Given the description of an element on the screen output the (x, y) to click on. 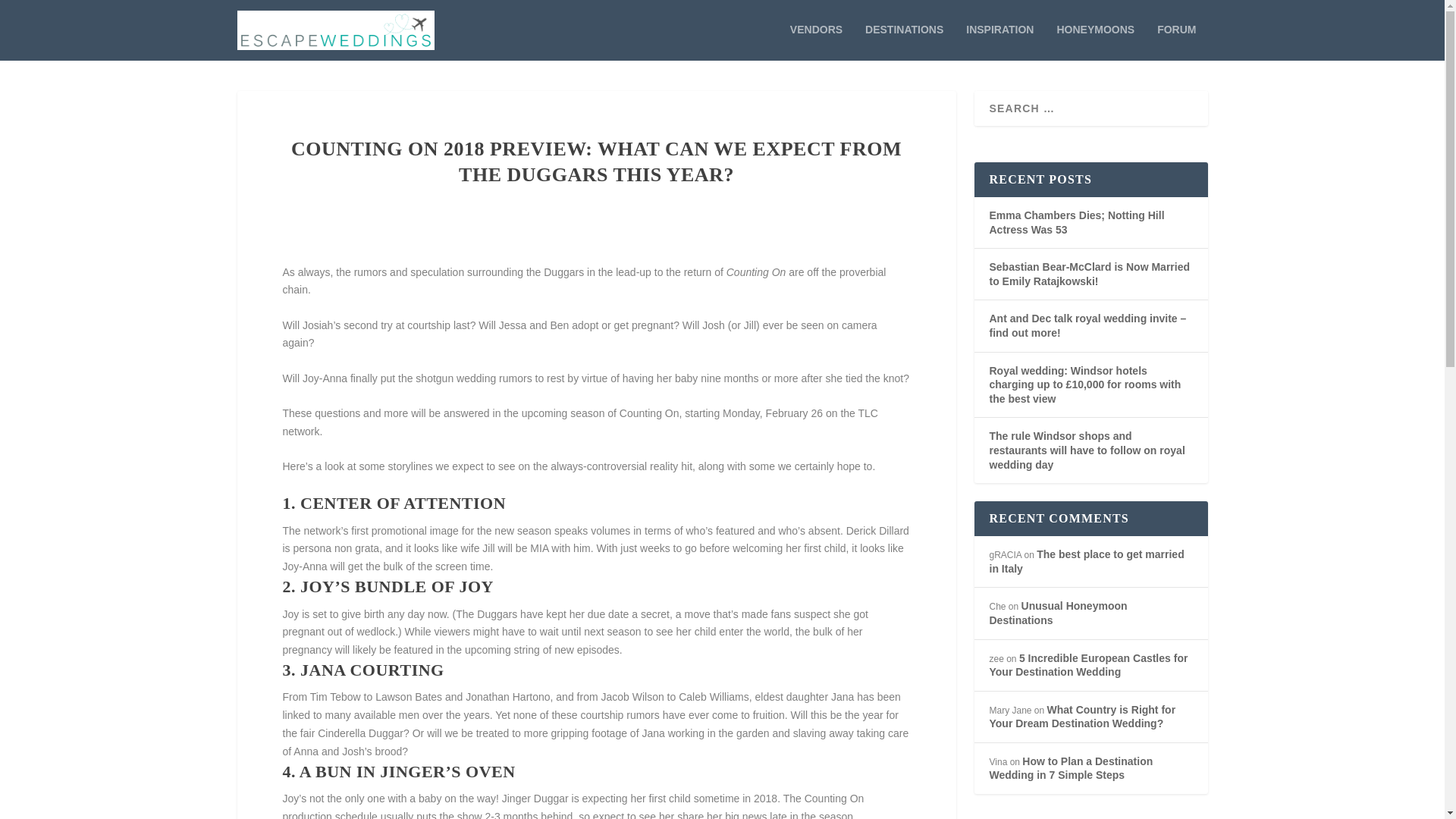
Unusual Honeymoon Destinations (1057, 612)
Emma Chambers Dies; Notting Hill Actress Was 53 (1075, 222)
VENDORS (816, 41)
DESTINATIONS (903, 41)
5 Incredible European Castles for Your Destination Wedding (1088, 664)
The best place to get married in Italy (1085, 560)
INSPIRATION (999, 41)
FORUM (1176, 41)
How to Plan a Destination Wedding in 7 Simple Steps (1070, 768)
What Country is Right for Your Dream Destination Wedding? (1081, 716)
Sebastian Bear-McClard is Now Married to Emily Ratajkowski! (1088, 274)
HONEYMOONS (1095, 41)
Search (31, 13)
